Given the description of an element on the screen output the (x, y) to click on. 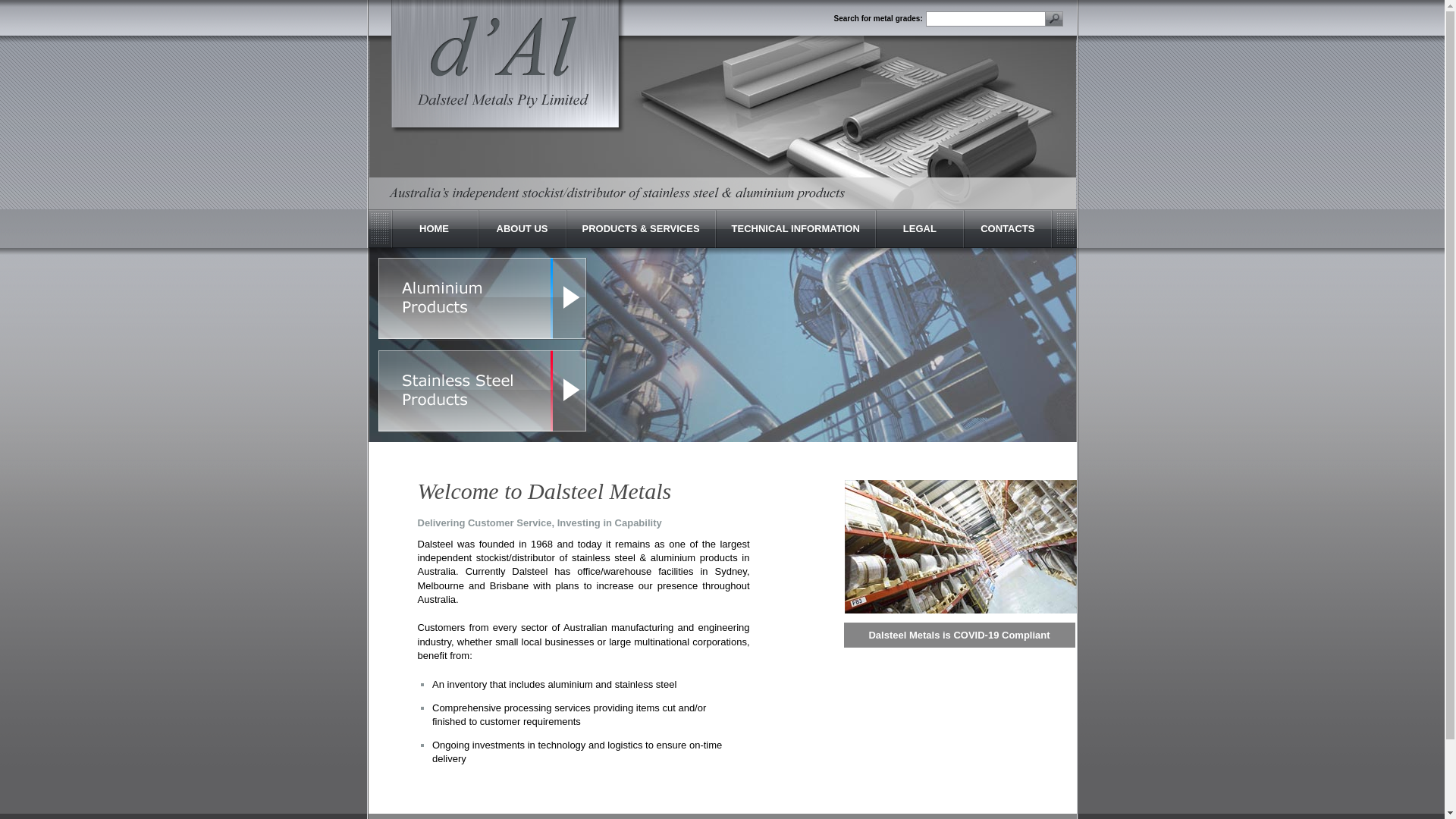
LEGAL Element type: text (920, 228)
HOME Element type: text (435, 228)
Dalsteel Metals Element type: hover (507, 66)
TECHNICAL INFORMATION Element type: text (796, 228)
PRODUCTS & SERVICES Element type: text (641, 228)
ABOUT US Element type: text (523, 228)
CONTACTS Element type: text (1008, 228)
